Given the description of an element on the screen output the (x, y) to click on. 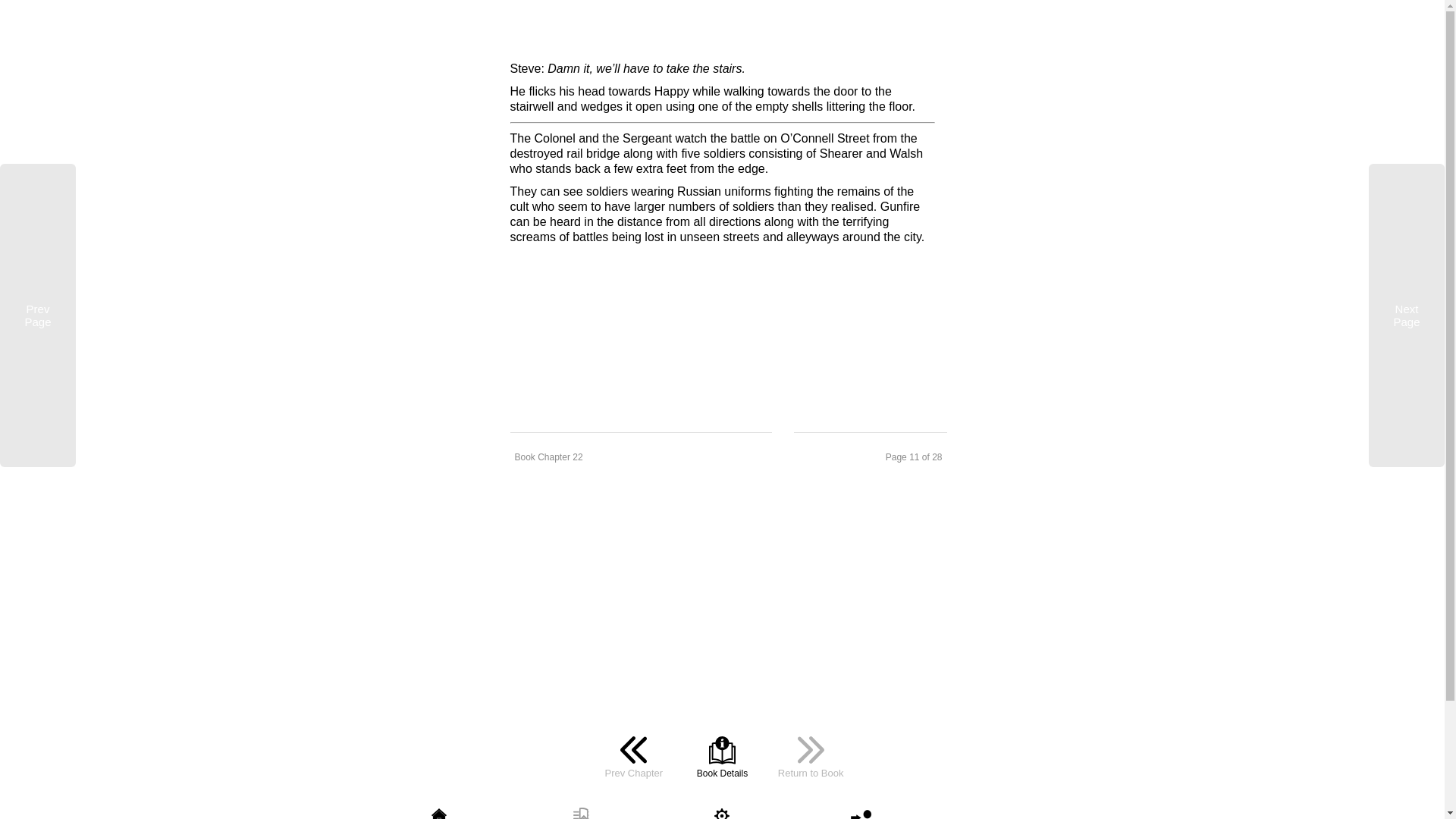
Page 11 of 28 (870, 456)
Book Chapter 22 (640, 456)
